Given the description of an element on the screen output the (x, y) to click on. 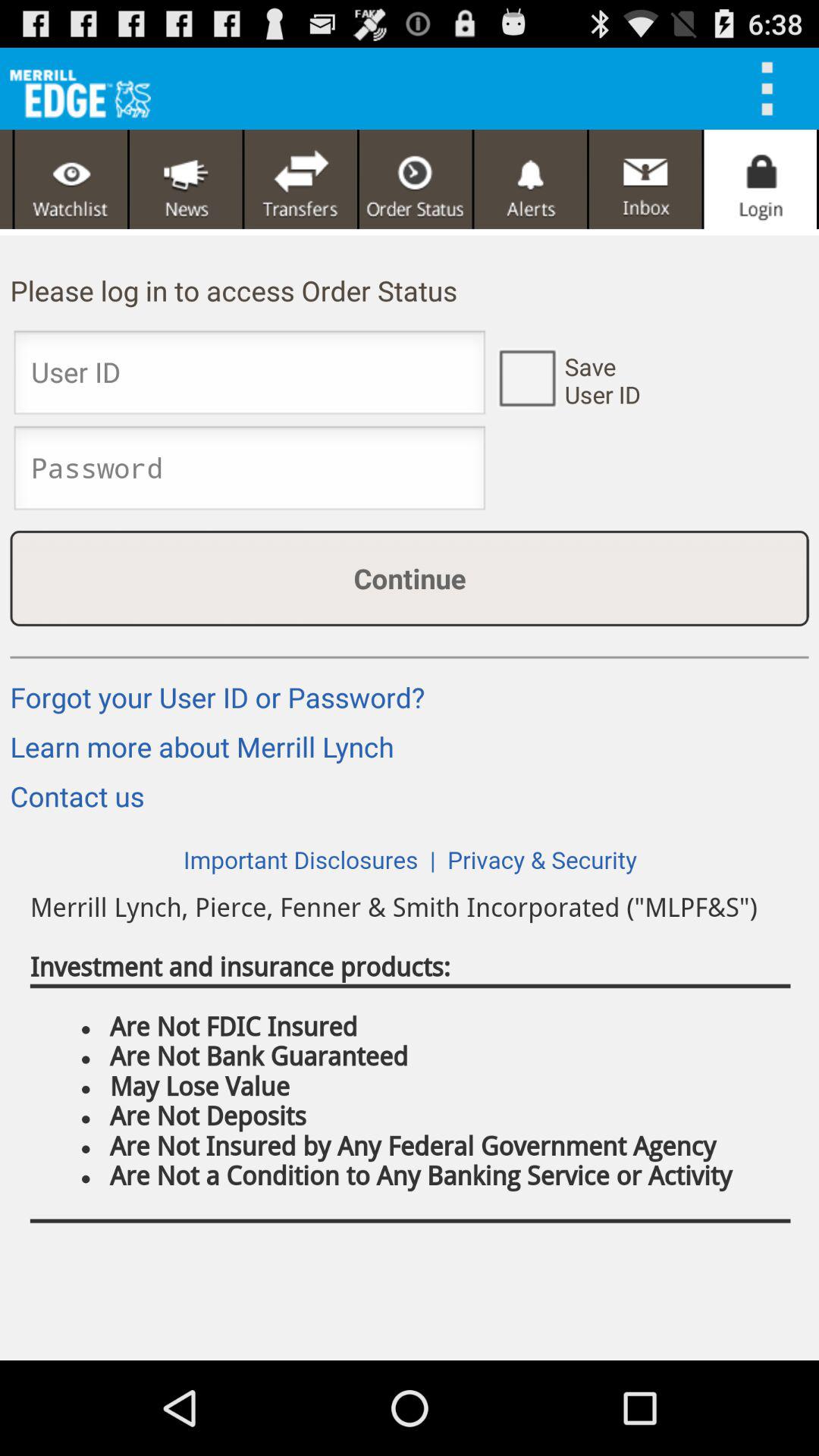
menu page (70, 179)
